Given the description of an element on the screen output the (x, y) to click on. 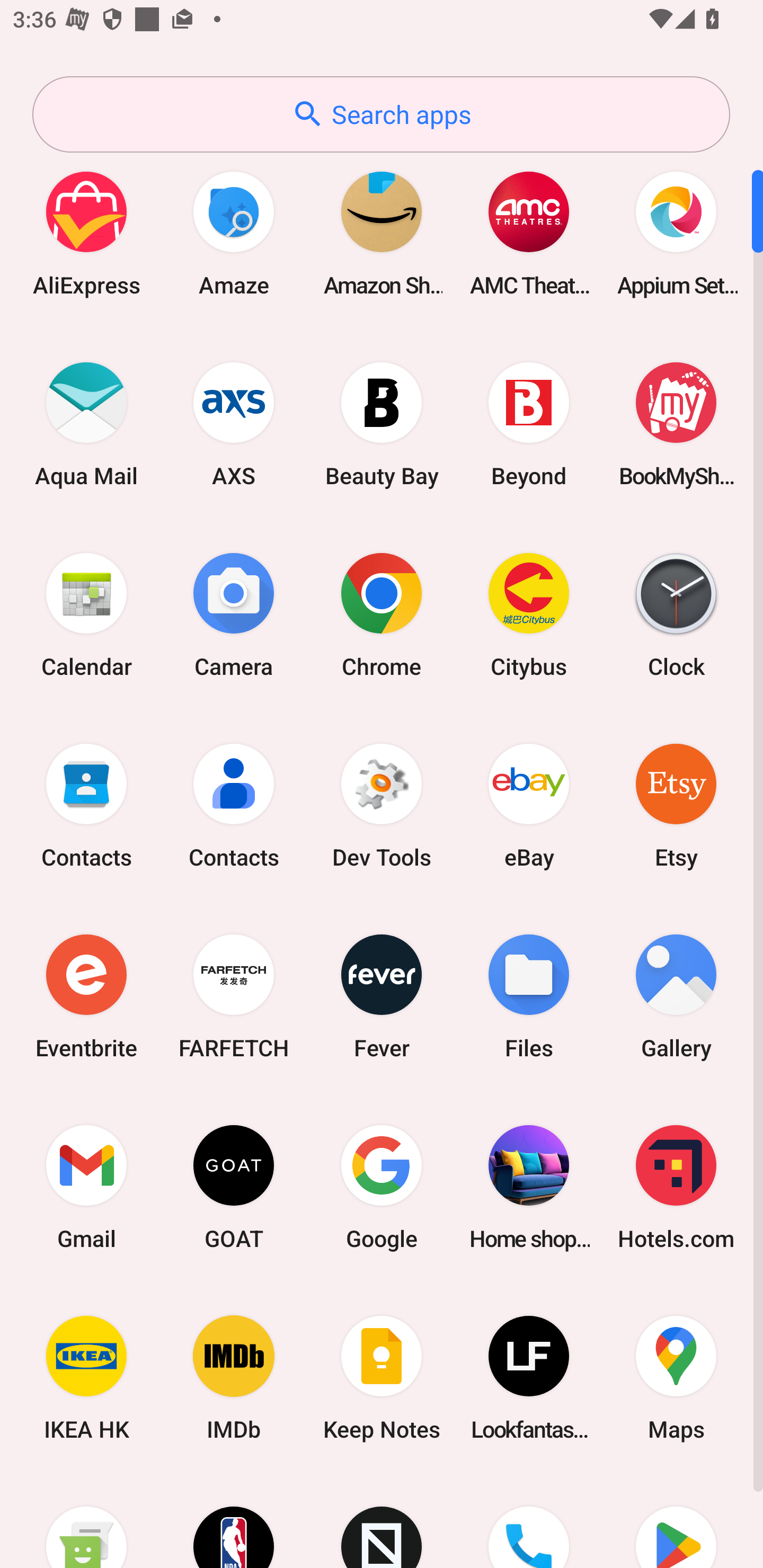
  Search apps (381, 114)
AliExpress (86, 233)
Amaze (233, 233)
Amazon Shopping (381, 233)
AMC Theatres (528, 233)
Appium Settings (676, 233)
Aqua Mail (86, 424)
AXS (233, 424)
Beauty Bay (381, 424)
Beyond (528, 424)
BookMyShow (676, 424)
Calendar (86, 614)
Camera (233, 614)
Chrome (381, 614)
Citybus (528, 614)
Clock (676, 614)
Contacts (86, 805)
Contacts (233, 805)
Dev Tools (381, 805)
eBay (528, 805)
Etsy (676, 805)
Eventbrite (86, 996)
FARFETCH (233, 996)
Fever (381, 996)
Files (528, 996)
Gallery (676, 996)
Gmail (86, 1186)
GOAT (233, 1186)
Google (381, 1186)
Home shopping (528, 1186)
Hotels.com (676, 1186)
IKEA HK (86, 1377)
IMDb (233, 1377)
Keep Notes (381, 1377)
Lookfantastic (528, 1377)
Maps (676, 1377)
